Given the description of an element on the screen output the (x, y) to click on. 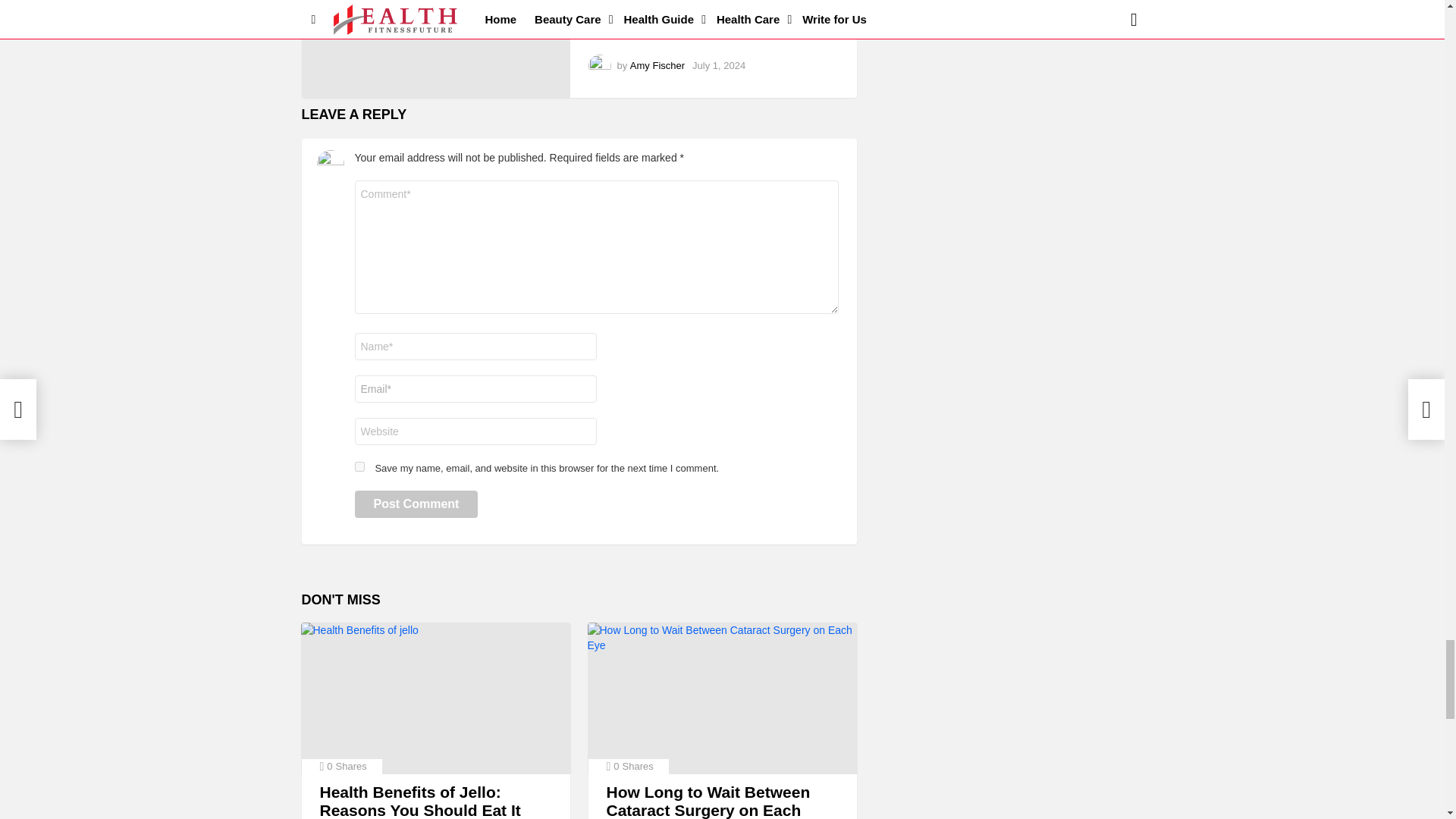
Post Comment (417, 503)
yes (360, 466)
